Given the description of an element on the screen output the (x, y) to click on. 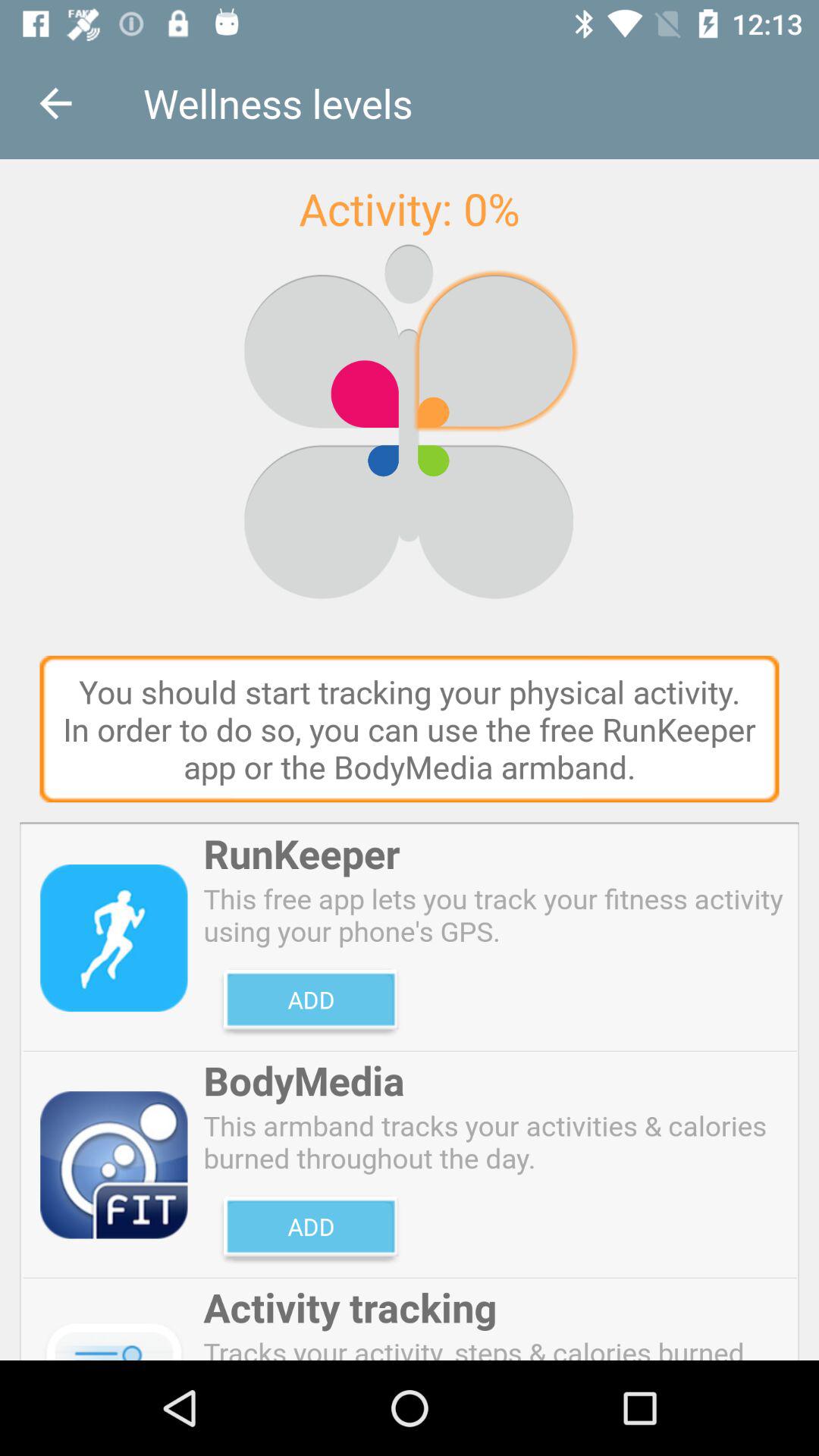
tap the item next to wellness levels item (55, 103)
